Given the description of an element on the screen output the (x, y) to click on. 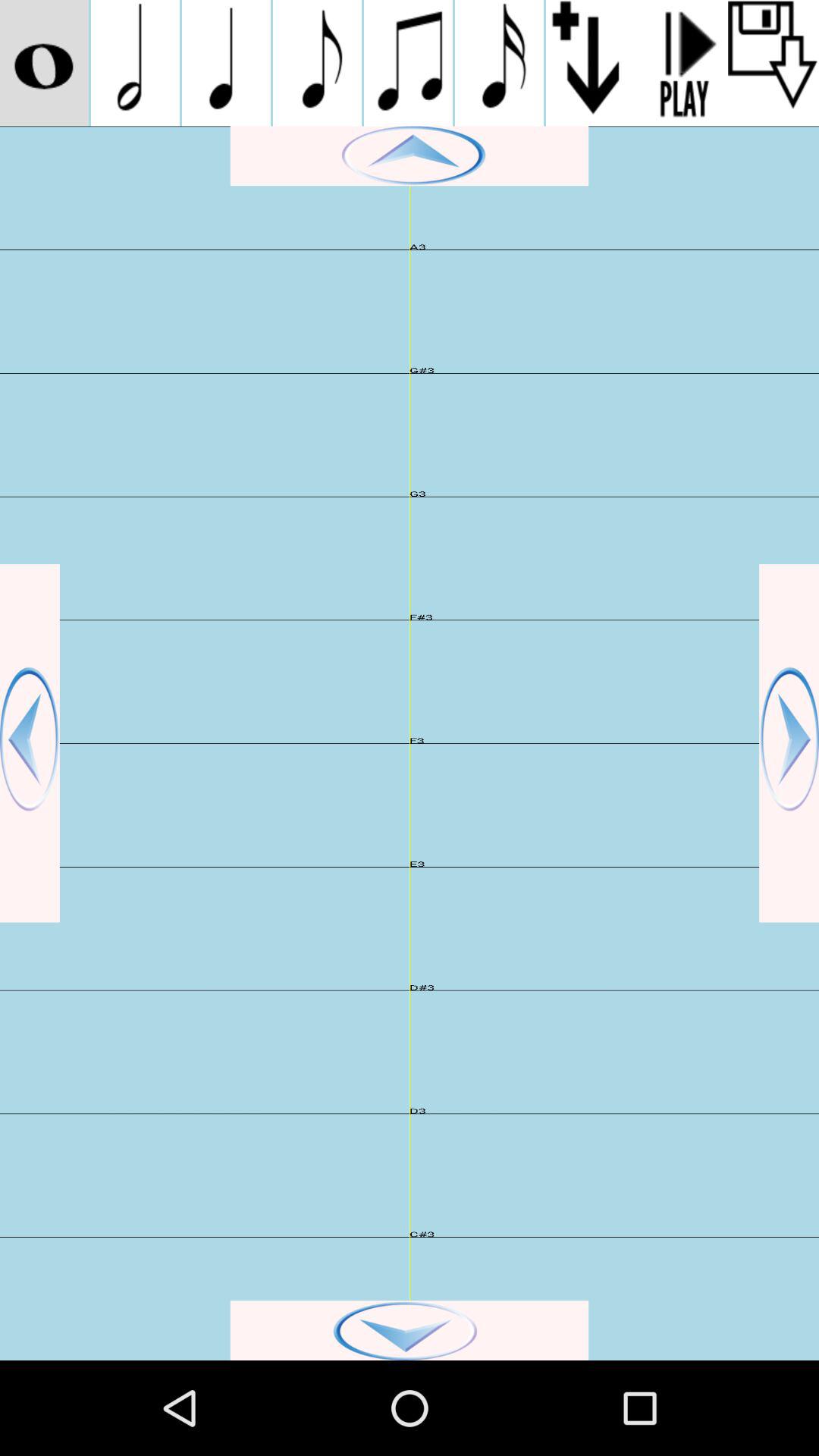
download (773, 63)
